Given the description of an element on the screen output the (x, y) to click on. 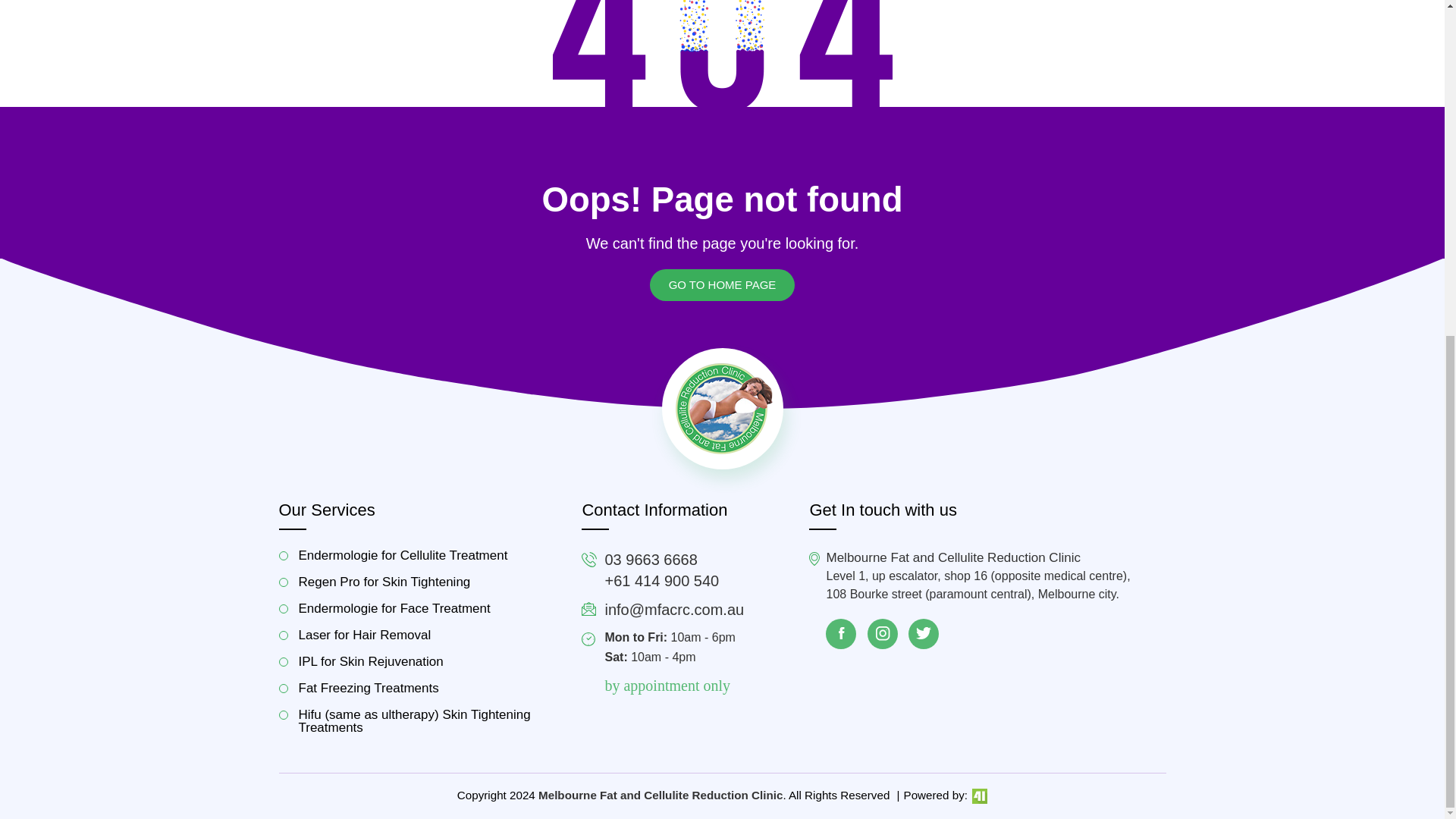
Melbourne Fat and Cellulite Reduction Clinic (660, 794)
Endermologie for Cellulite Treatment (419, 554)
4i Digital (979, 794)
Email Us (674, 609)
Melbourne Fat and Cellulite Reduction Clinic (722, 408)
Follow us on Instagram (882, 634)
GO TO HOME PAGE (721, 285)
Follow us on Twitter (923, 634)
Follow us on Facebook (840, 634)
